Given the description of an element on the screen output the (x, y) to click on. 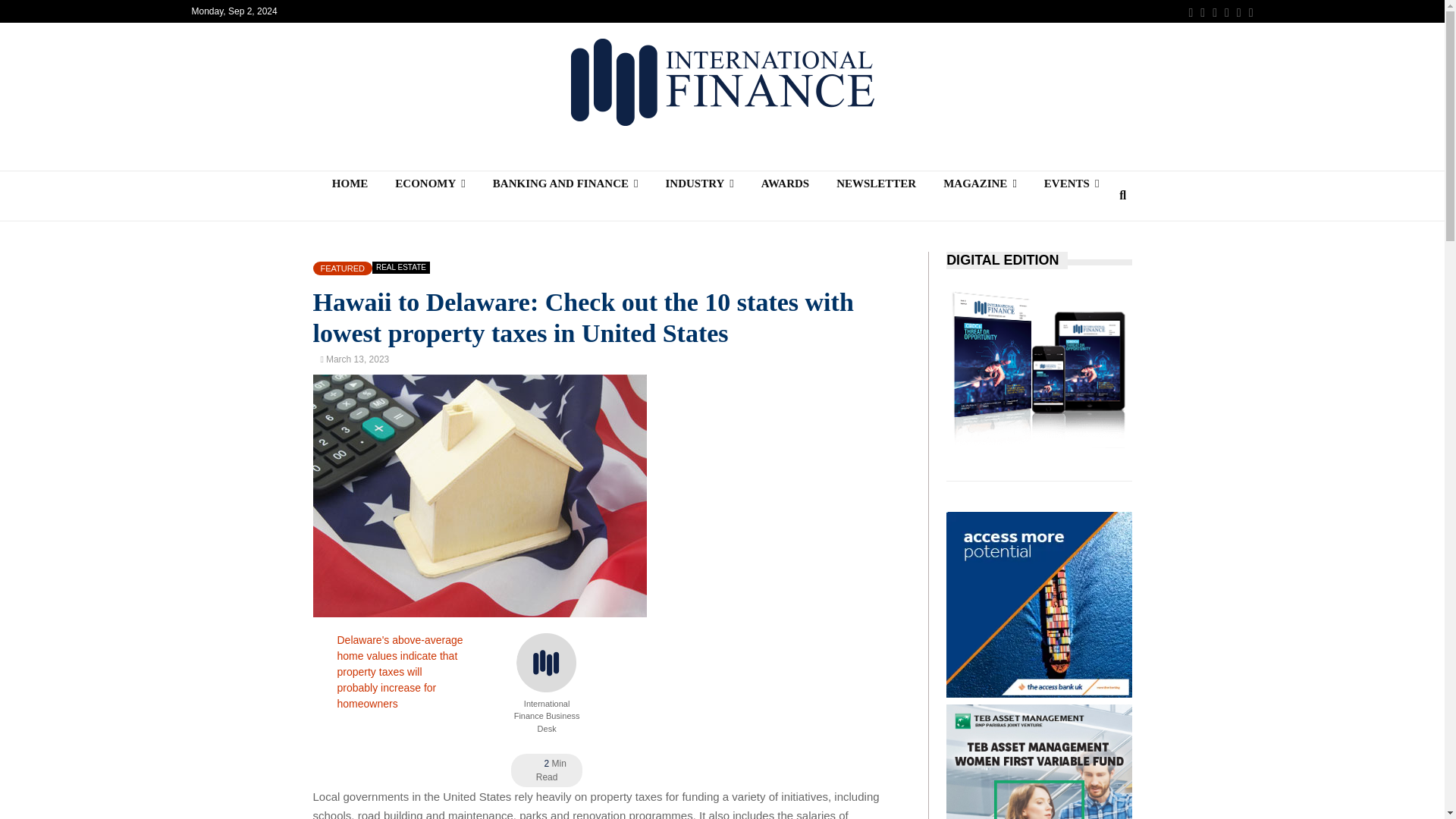
ECONOMY (430, 183)
INDUSTRY (698, 183)
BANKING AND FINANCE (565, 183)
MAGAZINE (980, 183)
HOME (349, 183)
AWARDS (785, 183)
NEWSLETTER (876, 183)
